Given the description of an element on the screen output the (x, y) to click on. 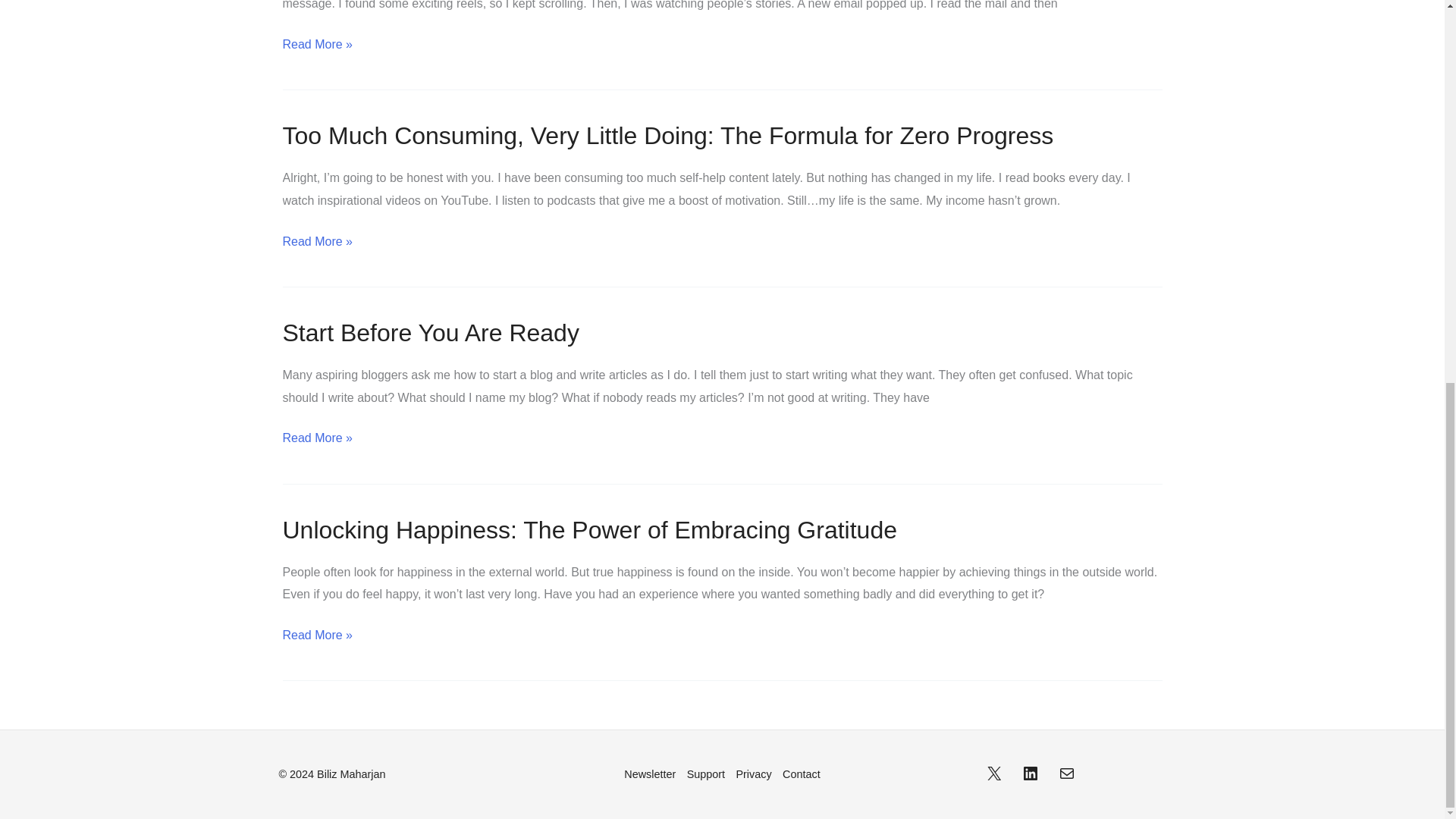
LinkedIn (1030, 773)
Newsletter (652, 774)
Privacy (753, 774)
Start Before You Are Ready (430, 332)
X (994, 773)
Unlocking Happiness: The Power of Embracing Gratitude (589, 529)
Contact (799, 774)
Mail (1066, 773)
Support (705, 774)
